Given the description of an element on the screen output the (x, y) to click on. 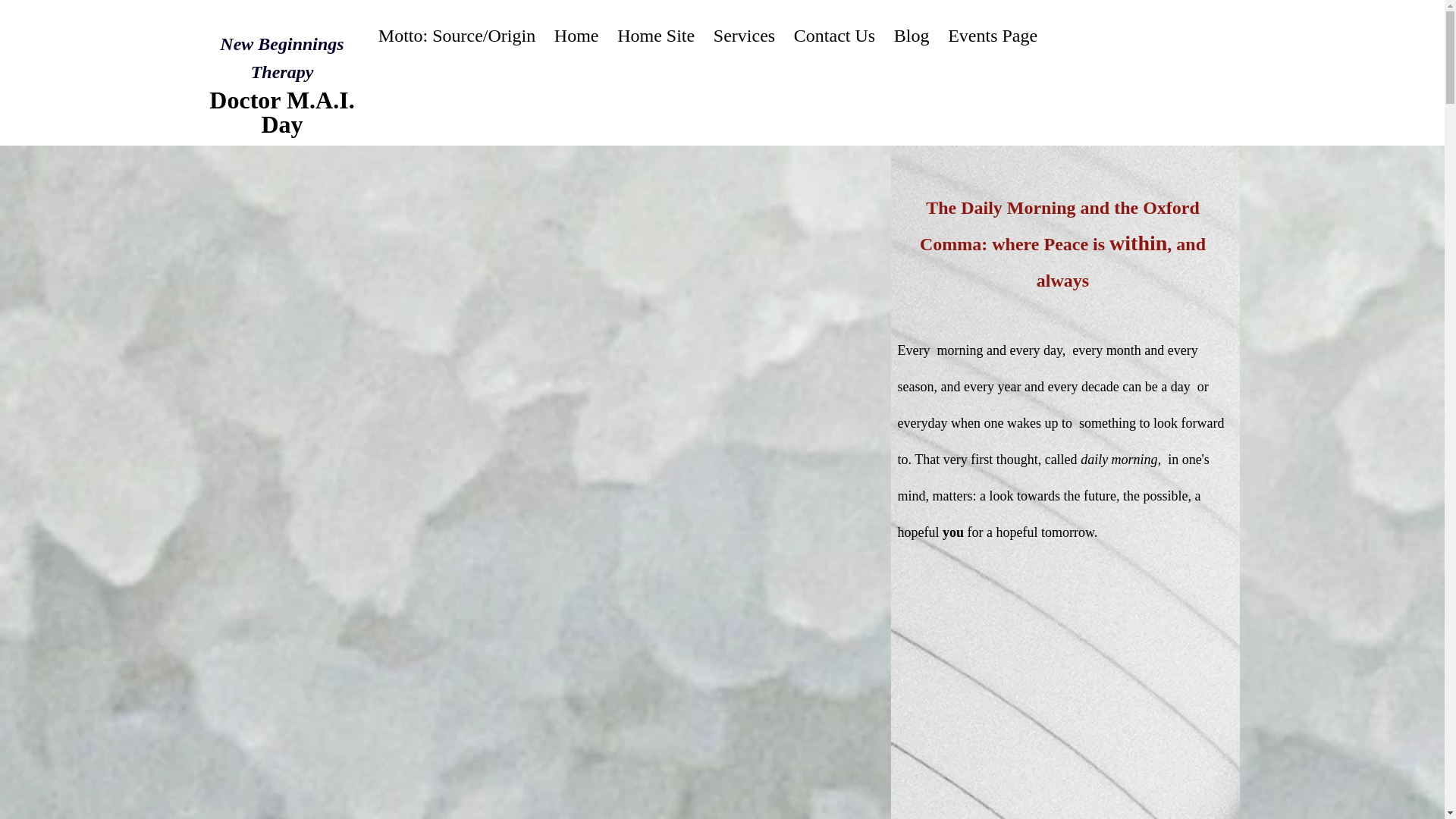
Blog (910, 35)
Contact Us (833, 35)
Home (575, 35)
Home Site (656, 35)
Services (743, 35)
Events Page (992, 35)
